Given the description of an element on the screen output the (x, y) to click on. 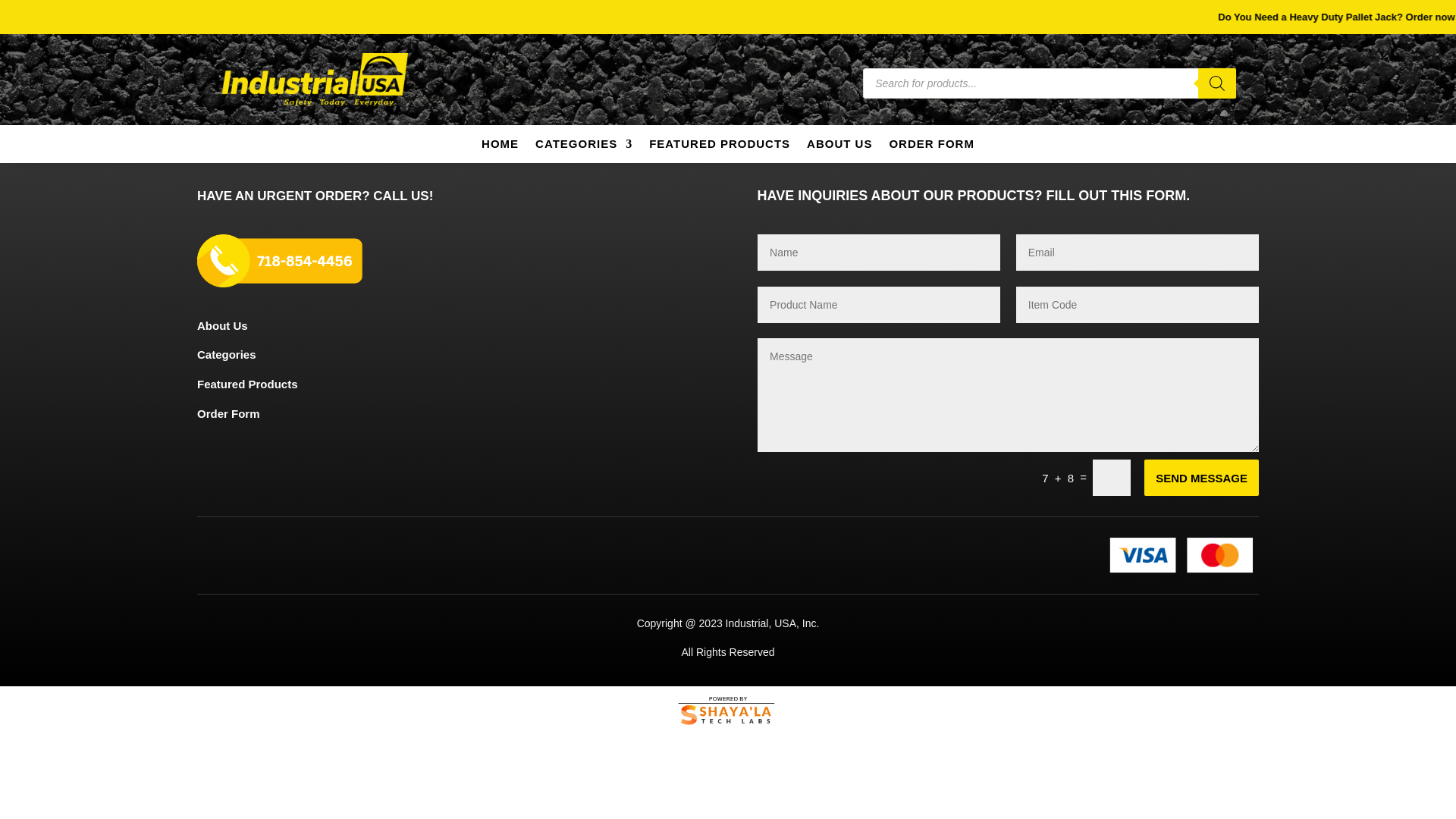
Featured Products (247, 383)
CATEGORIES (583, 146)
About Us (221, 325)
ORDER FORM (931, 146)
Powered By (727, 711)
Order Form (228, 413)
HOME (499, 146)
ABOUT US (839, 146)
Payment options (1182, 555)
Categories (226, 354)
SEND MESSAGE (1201, 477)
FEATURED PRODUCTS (719, 146)
Only letters and numbers allowed. (1137, 304)
